Given the description of an element on the screen output the (x, y) to click on. 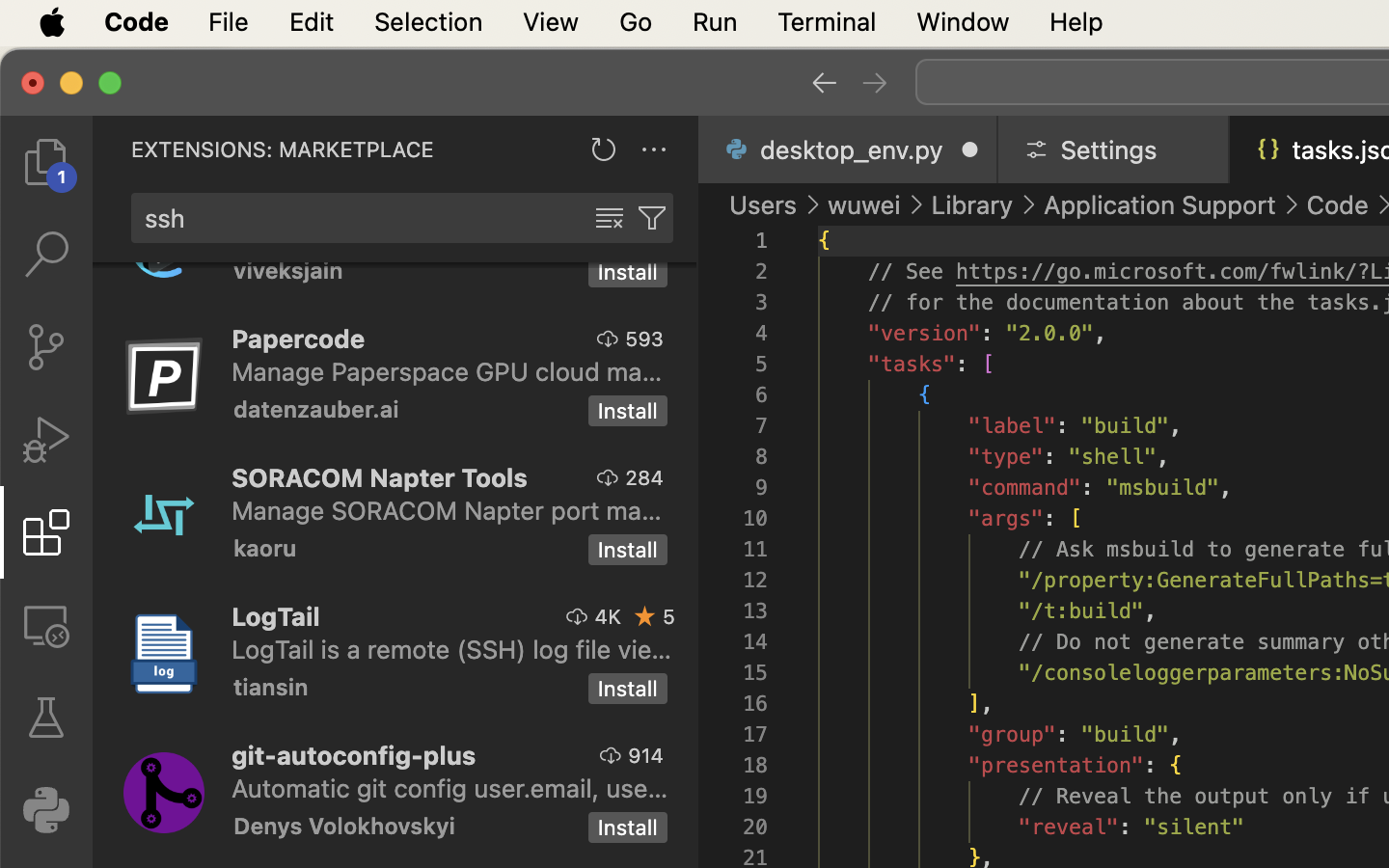
Automatic git config user.email, user.name, SSH key setting for vscode Element type: AXStaticText (450, 787)
Papercode Element type: AXStaticText (298, 338)
0  Element type: AXRadioButton (46, 717)
 Element type: AXButton (824, 82)
viveksjain Element type: AXStaticText (288, 272)
